Given the description of an element on the screen output the (x, y) to click on. 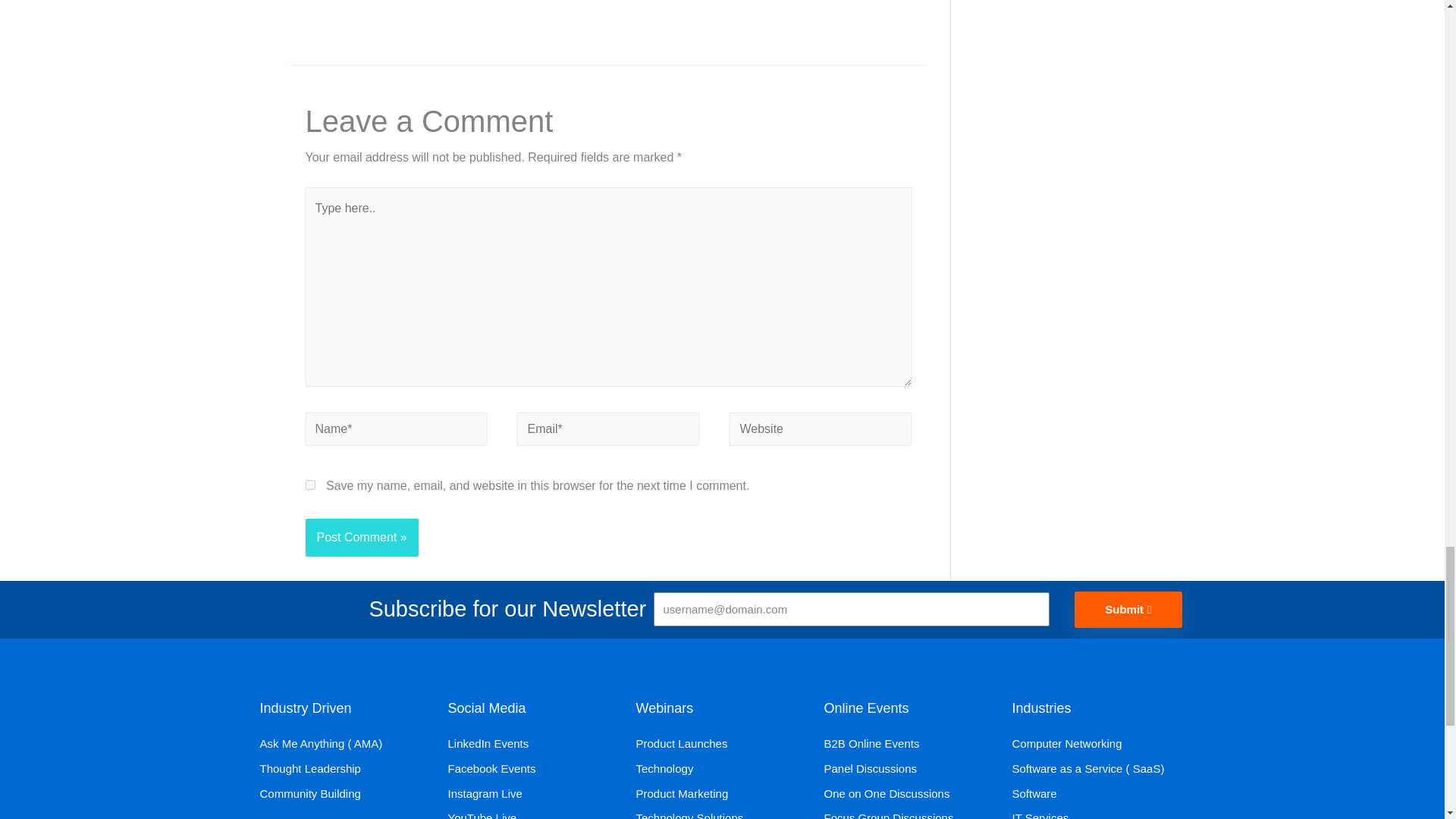
yes (309, 484)
